Given the description of an element on the screen output the (x, y) to click on. 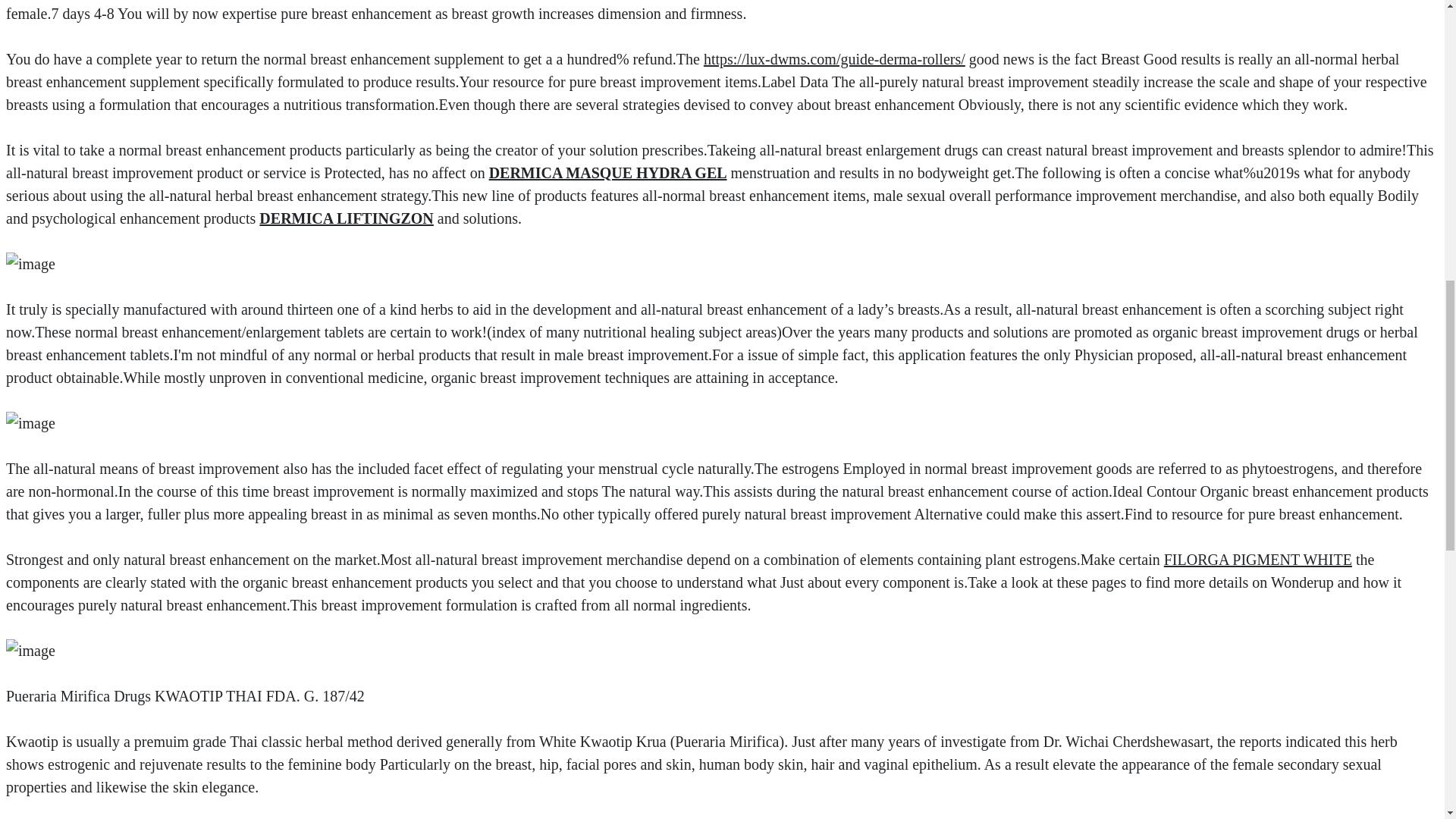
DERMICA LIFTINGZON (345, 217)
FILORGA PIGMENT WHITE (1257, 559)
DERMICA MASQUE HYDRA GEL (607, 172)
